Given the description of an element on the screen output the (x, y) to click on. 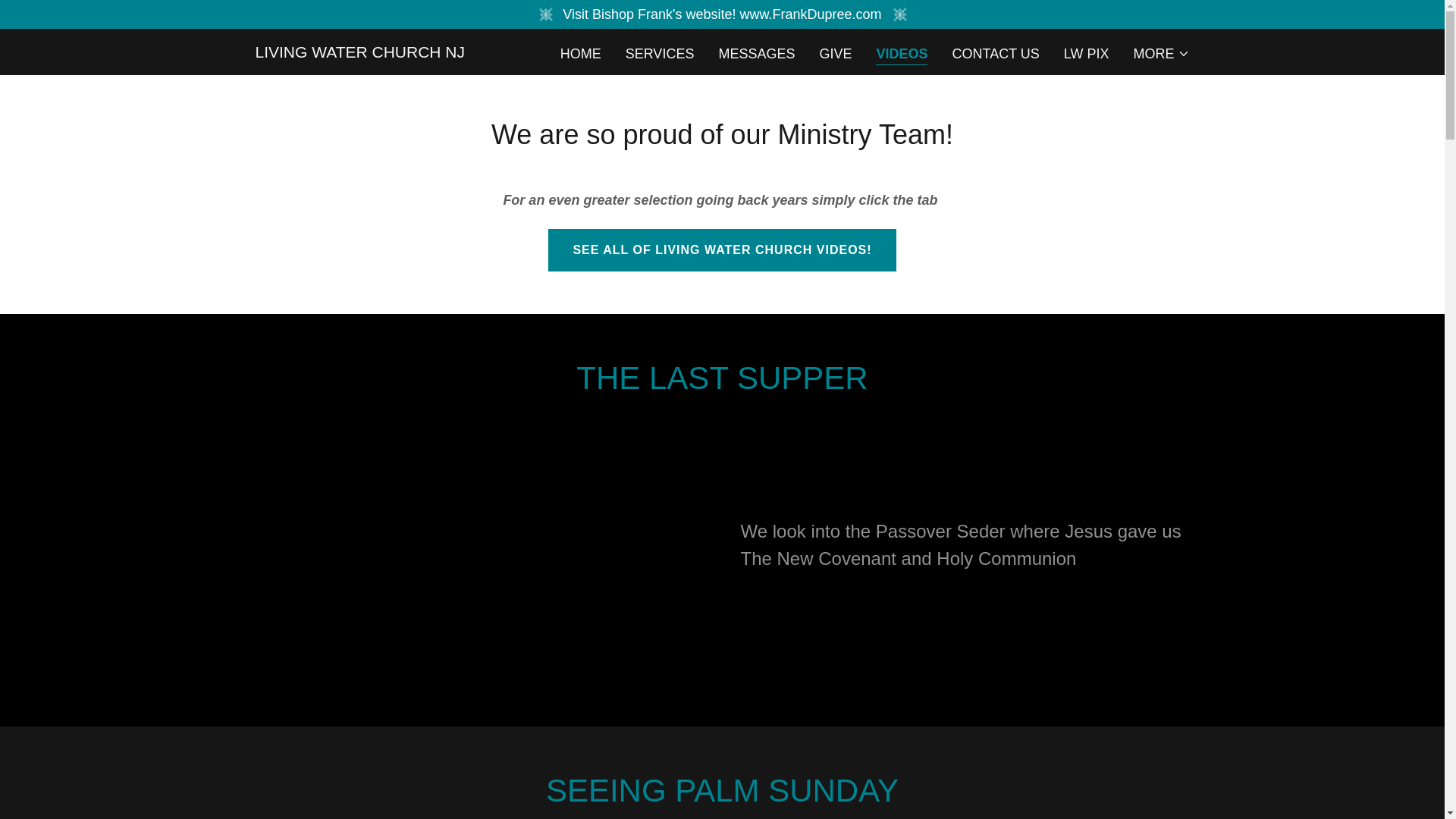
MORE (1160, 54)
SERVICES (659, 53)
MESSAGES (756, 53)
SEE ALL OF LIVING WATER CHURCH VIDEOS! (721, 250)
VIDEOS (901, 55)
CONTACT US (995, 53)
LW PIX (1086, 53)
GIVE (834, 53)
HOME (580, 53)
Living Water Church NJ (359, 52)
